Given the description of an element on the screen output the (x, y) to click on. 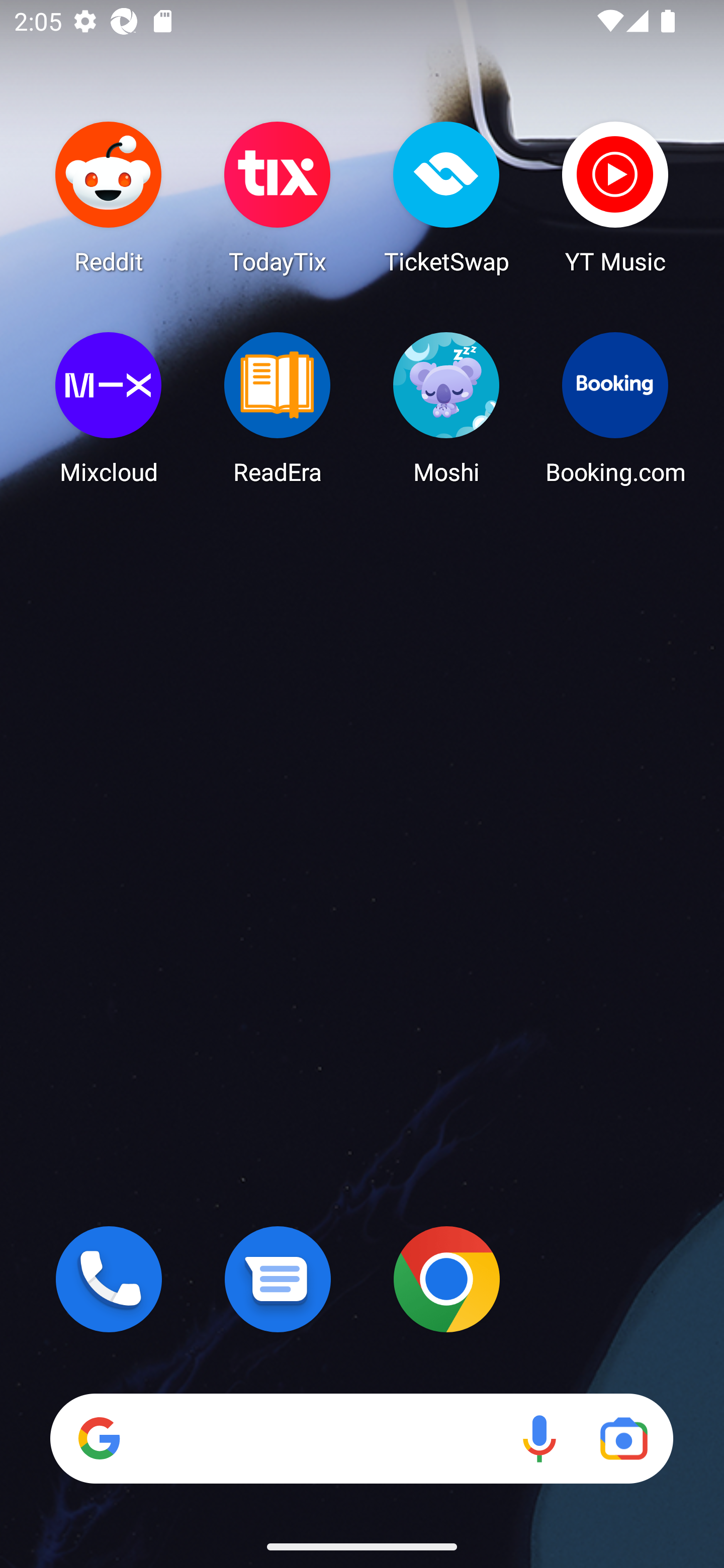
Reddit (108, 196)
TodayTix (277, 196)
TicketSwap (445, 196)
YT Music (615, 196)
Mixcloud (108, 407)
ReadEra (277, 407)
Moshi (445, 407)
Booking.com (615, 407)
Phone (108, 1279)
Messages (277, 1279)
Chrome (446, 1279)
Search Voice search Google Lens (361, 1438)
Voice search (539, 1438)
Google Lens (623, 1438)
